Given the description of an element on the screen output the (x, y) to click on. 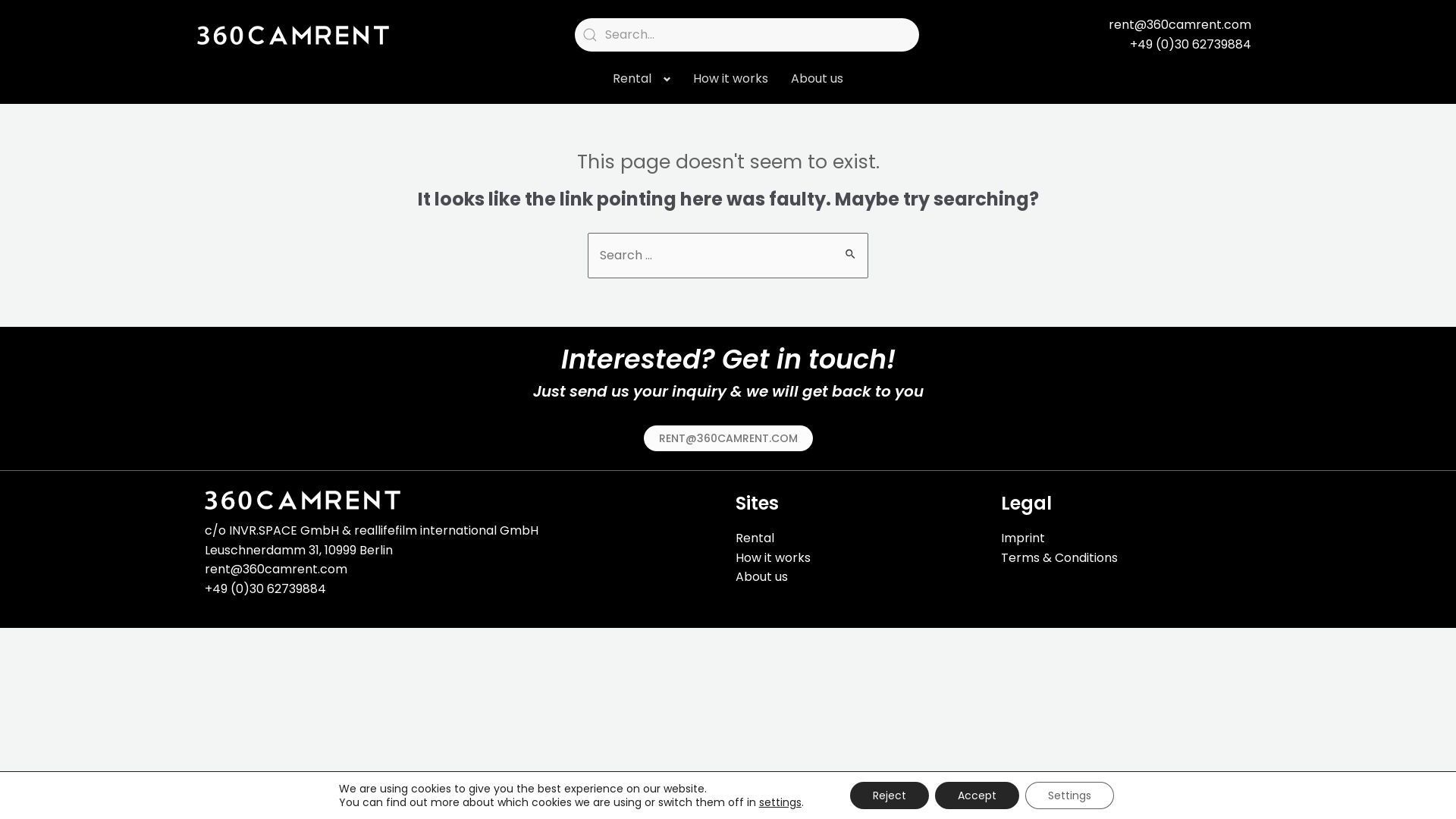
INVR.SPACE GmbH Element type: text (283, 530)
Imprint Element type: text (1022, 537)
RENT@360CAMRENT.COM Element type: text (727, 438)
Settings Element type: text (1069, 795)
Accept Element type: text (977, 795)
Rental Element type: text (754, 537)
reallifefilm international GmbH Element type: text (446, 530)
Search Element type: hover (746, 34)
rent@360camrent.com Element type: text (275, 568)
Rental Element type: text (641, 78)
+49 (0)30 62739884 Element type: text (1157, 44)
Search Element type: text (851, 247)
Terms & Conditions Element type: text (1059, 557)
Reject Element type: text (889, 795)
How it works Element type: text (772, 557)
49 (0)30 62739884 Element type: text (269, 588)
About us Element type: text (761, 576)
How it works Element type: text (730, 78)
About us Element type: text (816, 78)
rent@360camrent.com Element type: text (1157, 24)
